Given the description of an element on the screen output the (x, y) to click on. 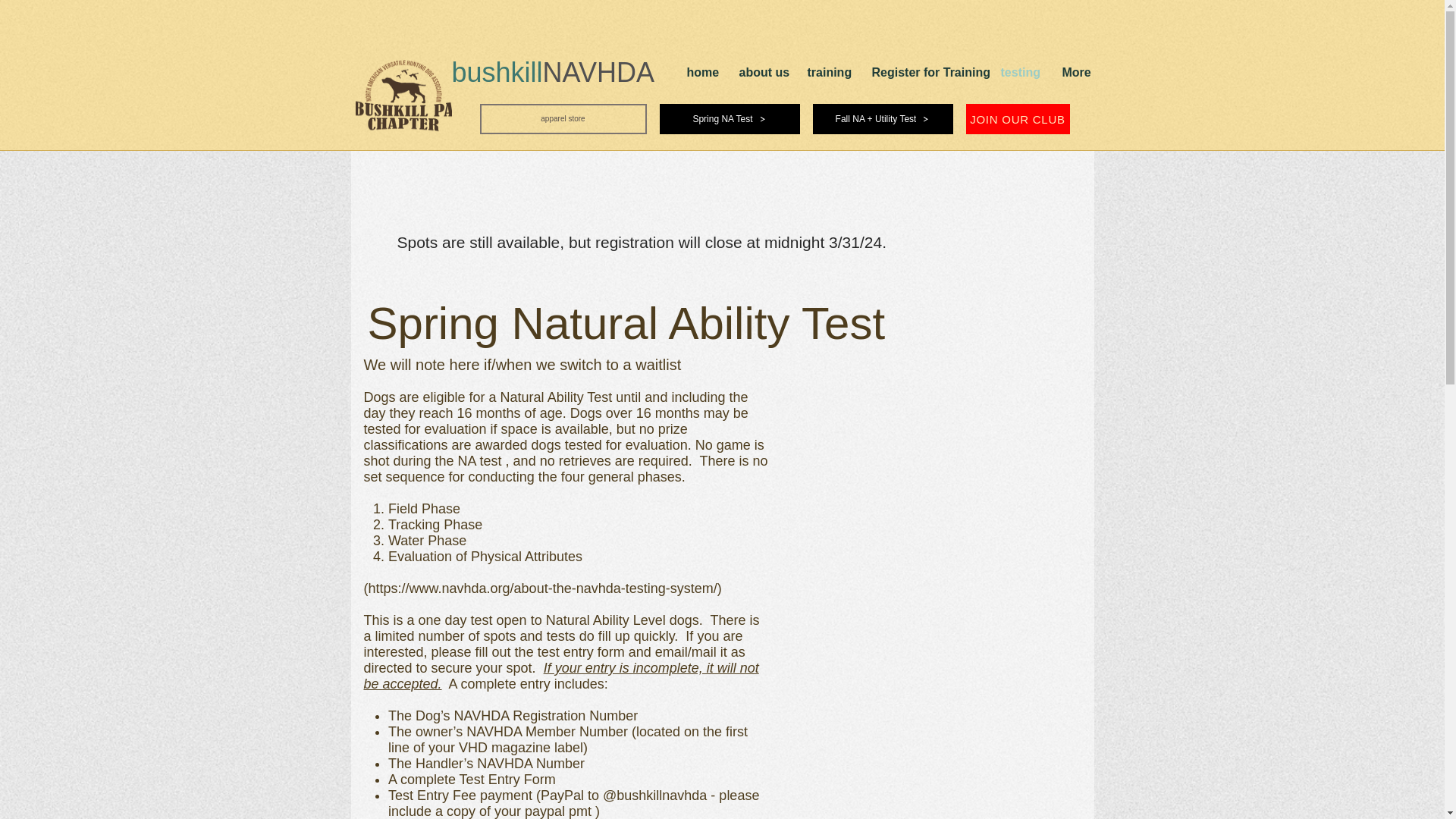
about us (762, 72)
apparel store (562, 119)
Spring NA Test (729, 119)
Register for Training (924, 72)
JOIN OUR CLUB (1018, 119)
